Given the description of an element on the screen output the (x, y) to click on. 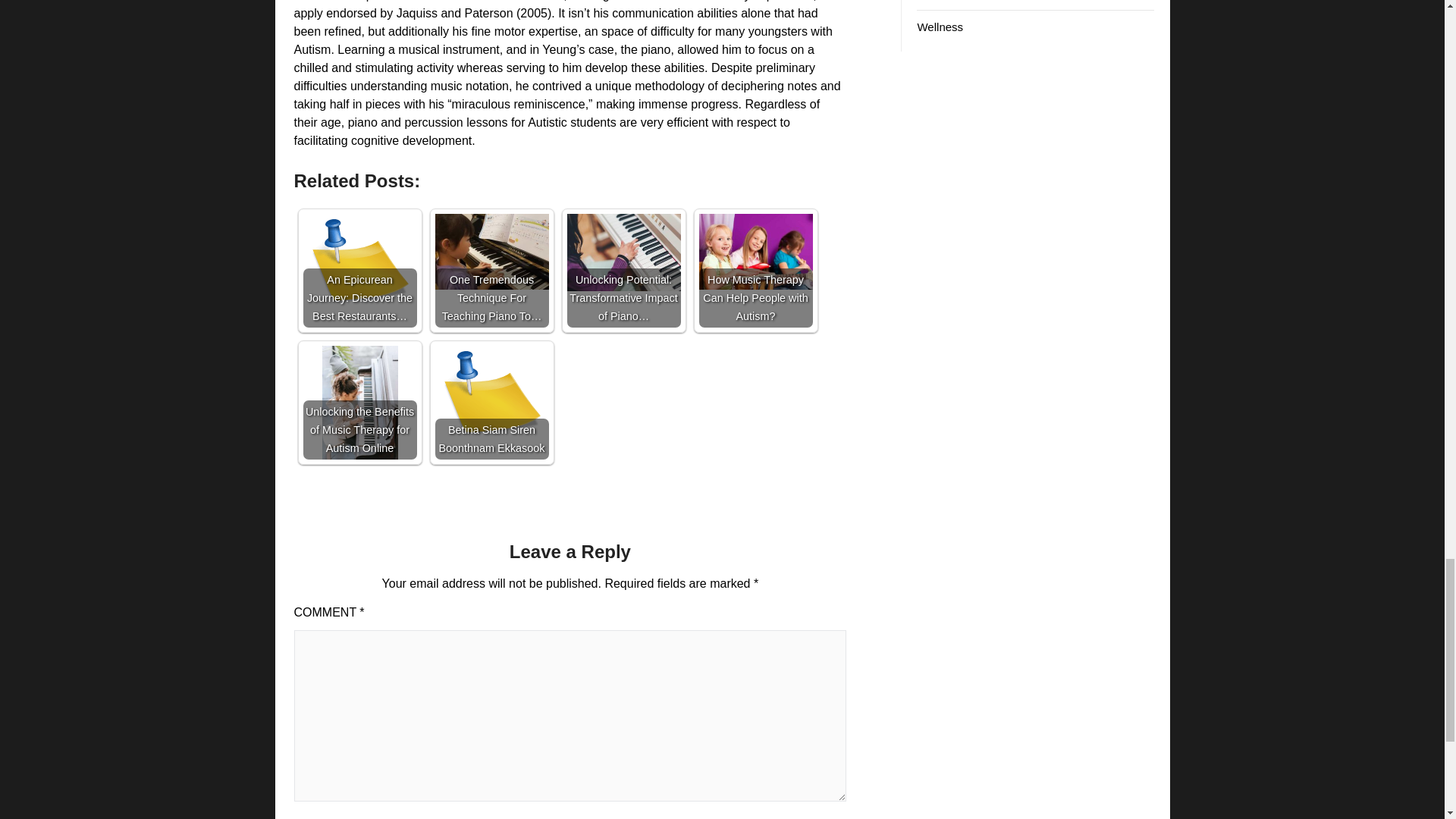
How Music Therapy Can Help People with Autism? (755, 251)
How Music Therapy Can Help People with Autism? (755, 270)
Unlocking the Benefits of Music Therapy for Autism Online (359, 402)
Betina Siam Siren Boonthnam Ekkasook (491, 402)
Betina Siam Siren Boonthnam Ekkasook (491, 402)
